Given the description of an element on the screen output the (x, y) to click on. 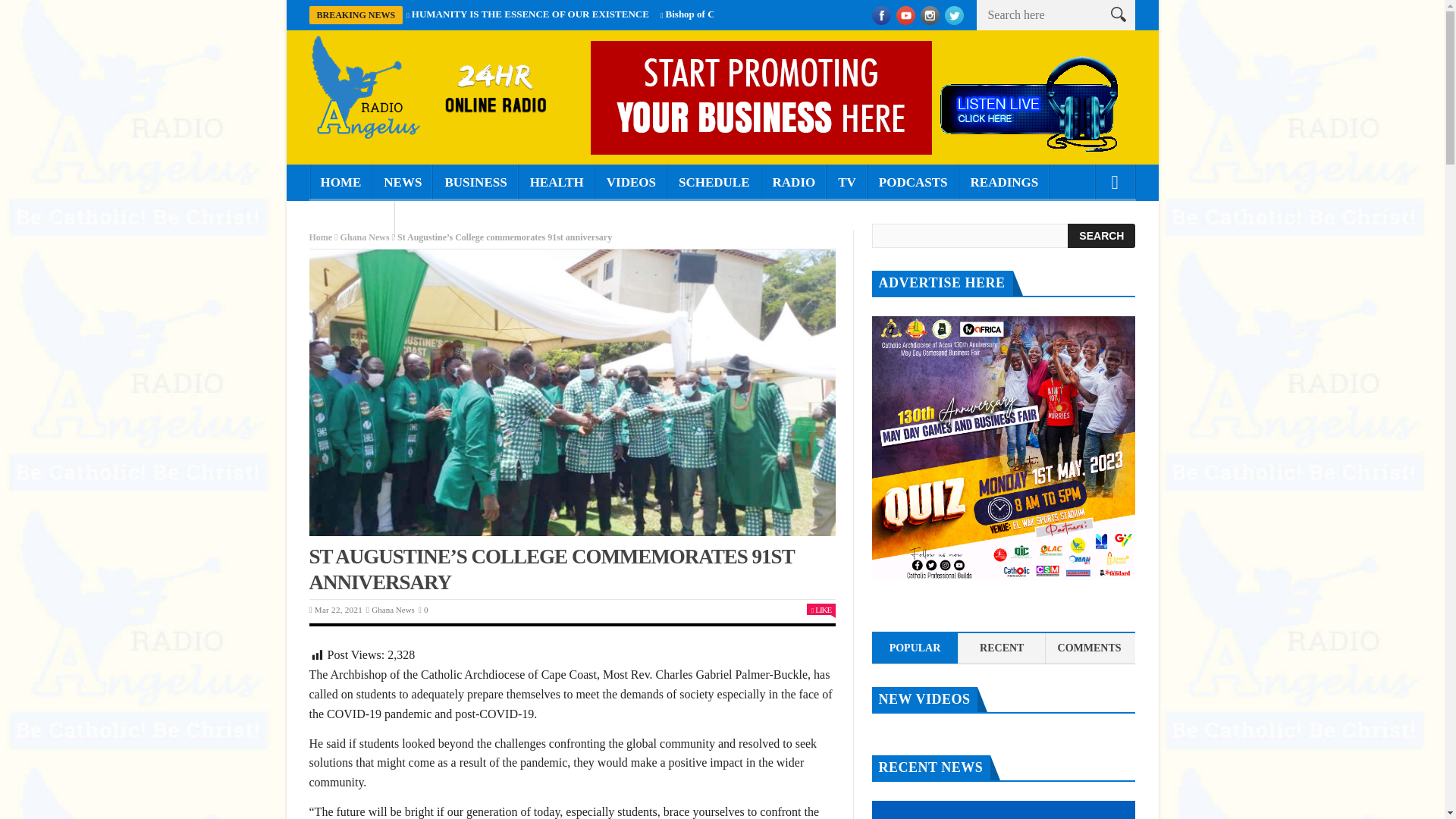
SCHEDULE (713, 182)
BUSINESS (475, 182)
NEWS (402, 182)
Search (1101, 235)
HOME (340, 182)
HUMANITY IS THE ESSENCE OF OUR EXISTENCE (530, 14)
HEALTH (556, 182)
VIDEOS (630, 182)
Like (820, 609)
